Given the description of an element on the screen output the (x, y) to click on. 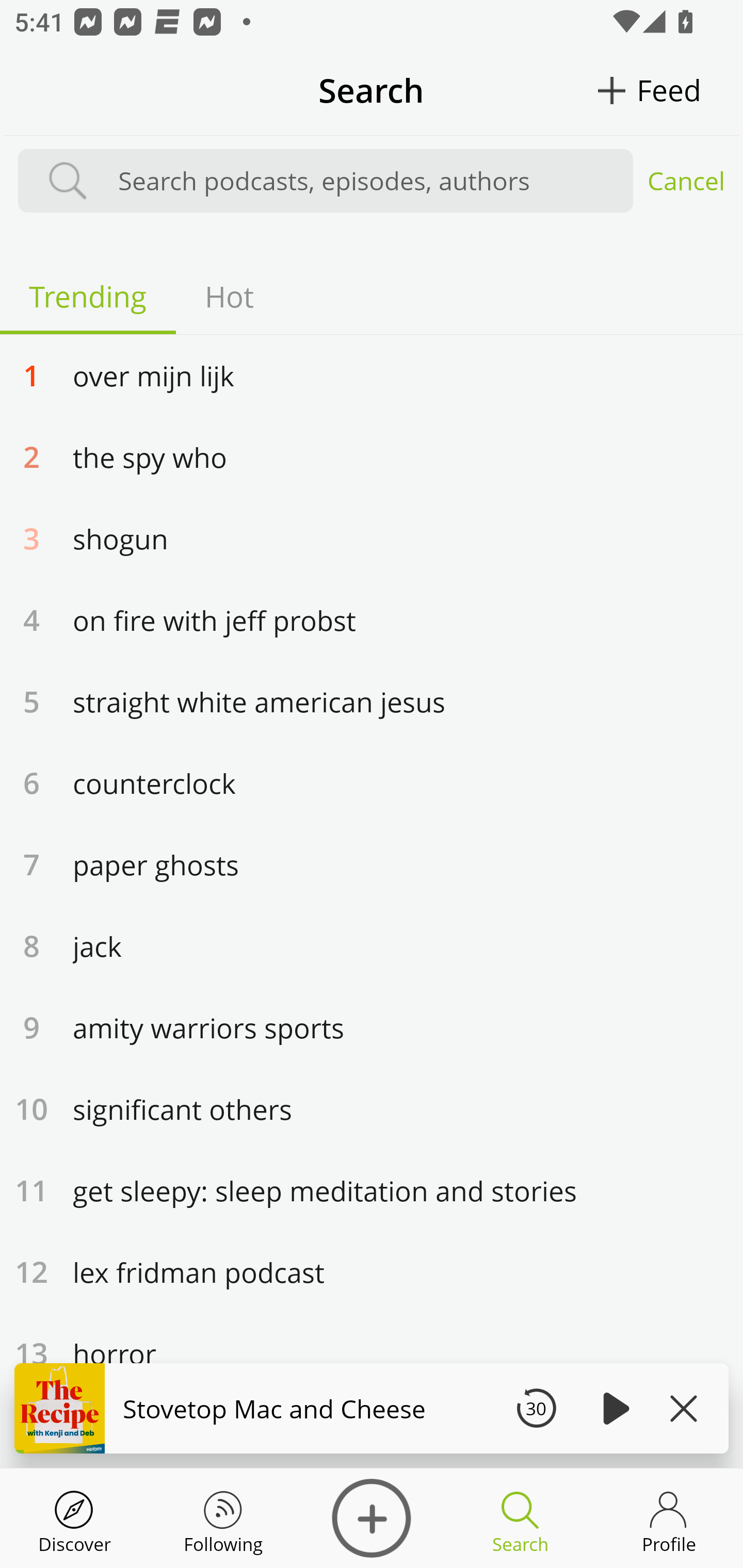
Feed (668, 90)
Cancel (686, 180)
Search podcasts, episodes, authors (366, 180)
Trending (88, 295)
Hot (229, 295)
1 over mijn lijk (371, 374)
2 the spy who (371, 456)
3 shogun (371, 537)
4 on fire with jeff probst (371, 619)
5 straight white american jesus (371, 700)
6 counterclock (371, 782)
7 paper ghosts (371, 863)
8 jack (371, 945)
9 amity warriors sports (371, 1026)
10 significant others (371, 1108)
11 get sleepy: sleep meditation and stories (371, 1189)
12 lex fridman podcast (371, 1271)
Play (613, 1407)
30 Seek Backward (536, 1407)
Discover (74, 1518)
Discover Following (222, 1518)
Discover (371, 1518)
Discover Profile (668, 1518)
